Given the description of an element on the screen output the (x, y) to click on. 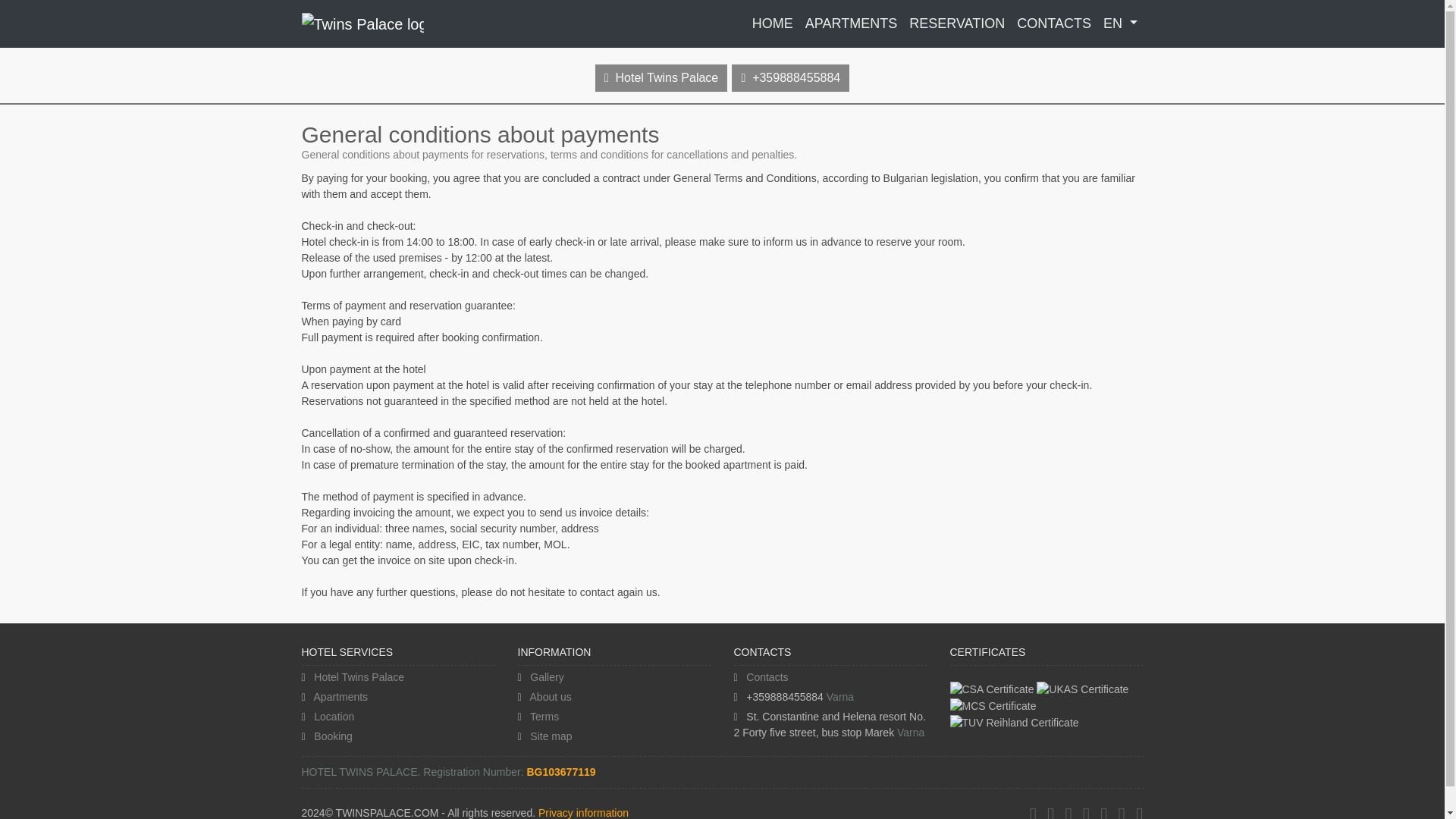
Contacts with Hotel (766, 676)
About us (550, 696)
Hotelul Twins Palace (772, 23)
About hotel Twins Palace (550, 696)
Site map (550, 736)
Get in touch with us (790, 77)
  Hotel Twins Palace (661, 77)
EN (1119, 23)
CONTACTS (1053, 23)
Rezervare Hotel Twins Palace (956, 23)
Terms (544, 716)
RESERVATION (956, 23)
Site map (550, 736)
HOME (772, 23)
Gallery Twins Palace (546, 676)
